Given the description of an element on the screen output the (x, y) to click on. 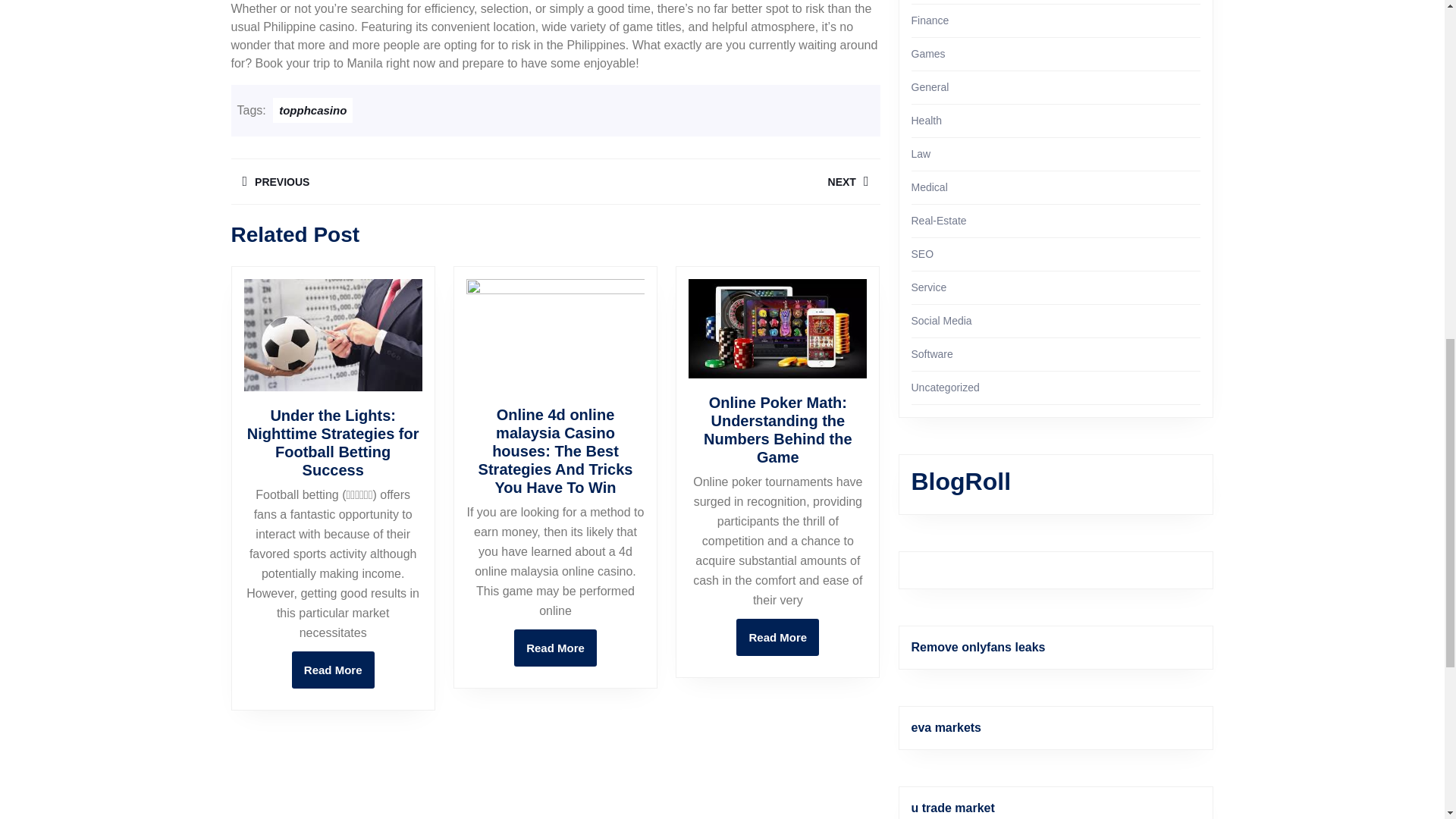
Law (921, 153)
Health (926, 120)
topphcasino (312, 109)
Games (927, 53)
General (333, 669)
Finance (716, 181)
